Given the description of an element on the screen output the (x, y) to click on. 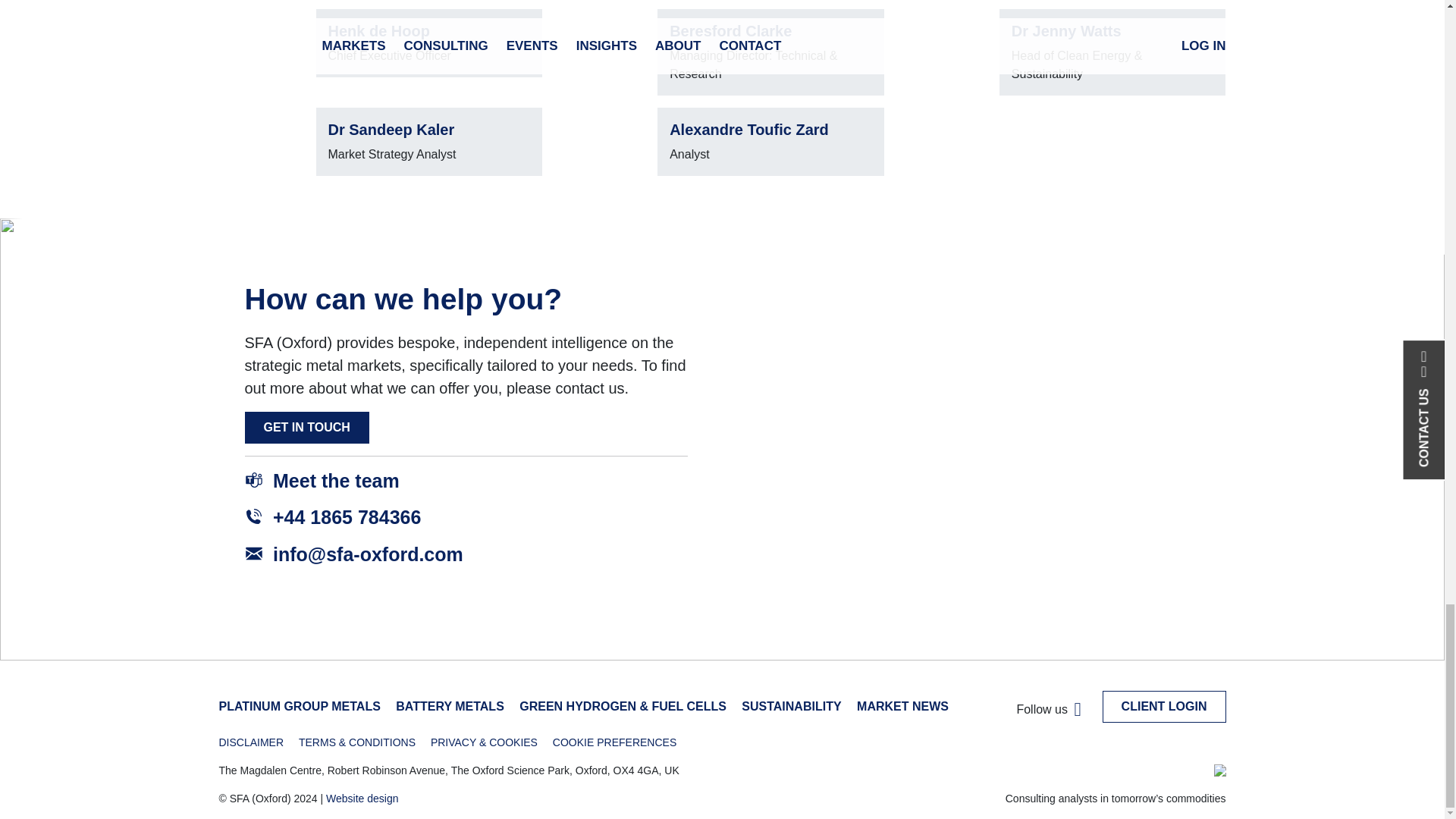
Contact (306, 427)
